Given the description of an element on the screen output the (x, y) to click on. 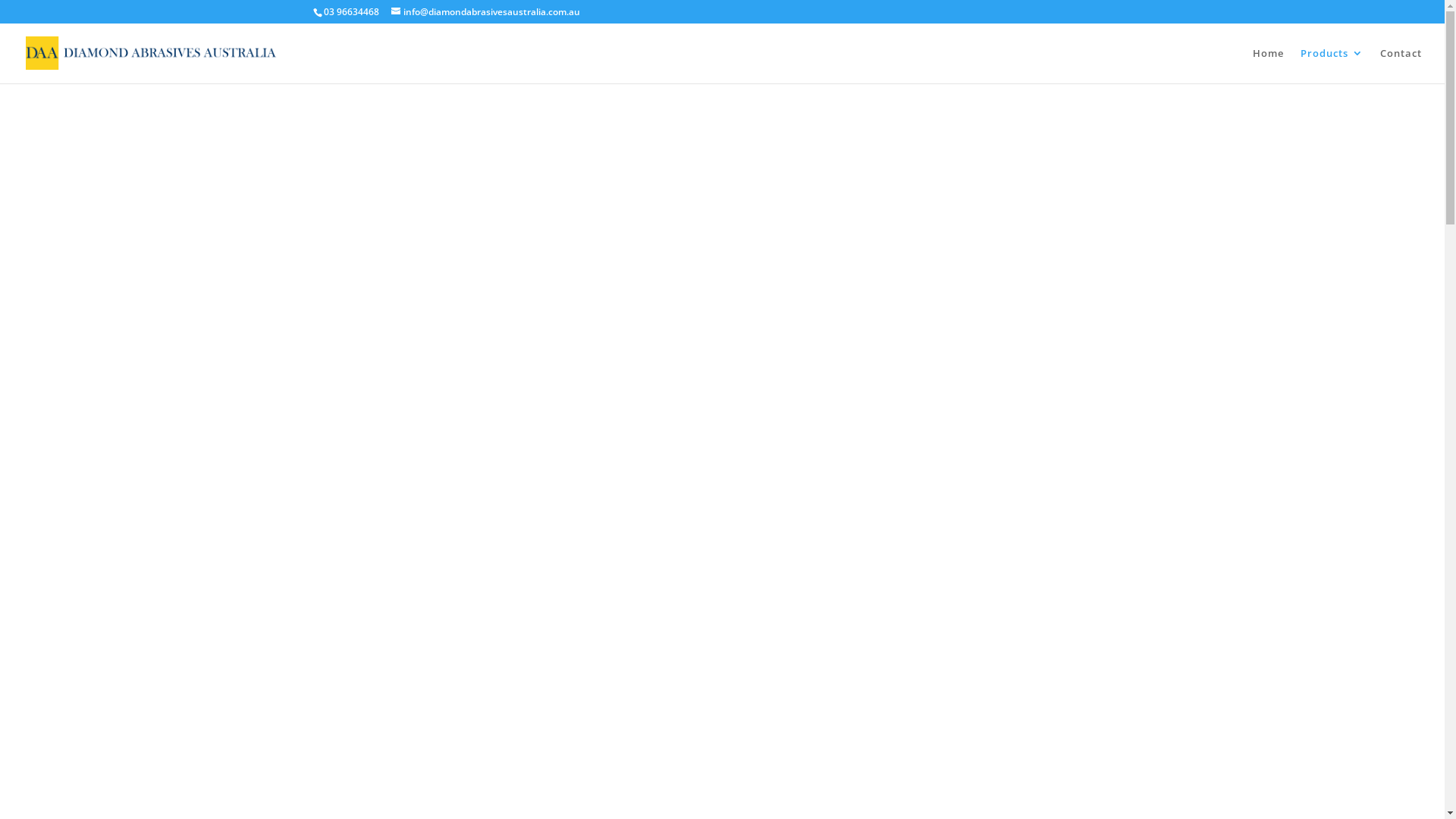
info@diamondabrasivesaustralia.com.au Element type: text (485, 11)
Home Element type: text (1267, 65)
Contact Element type: text (1400, 65)
Products Element type: text (1331, 65)
